Given the description of an element on the screen output the (x, y) to click on. 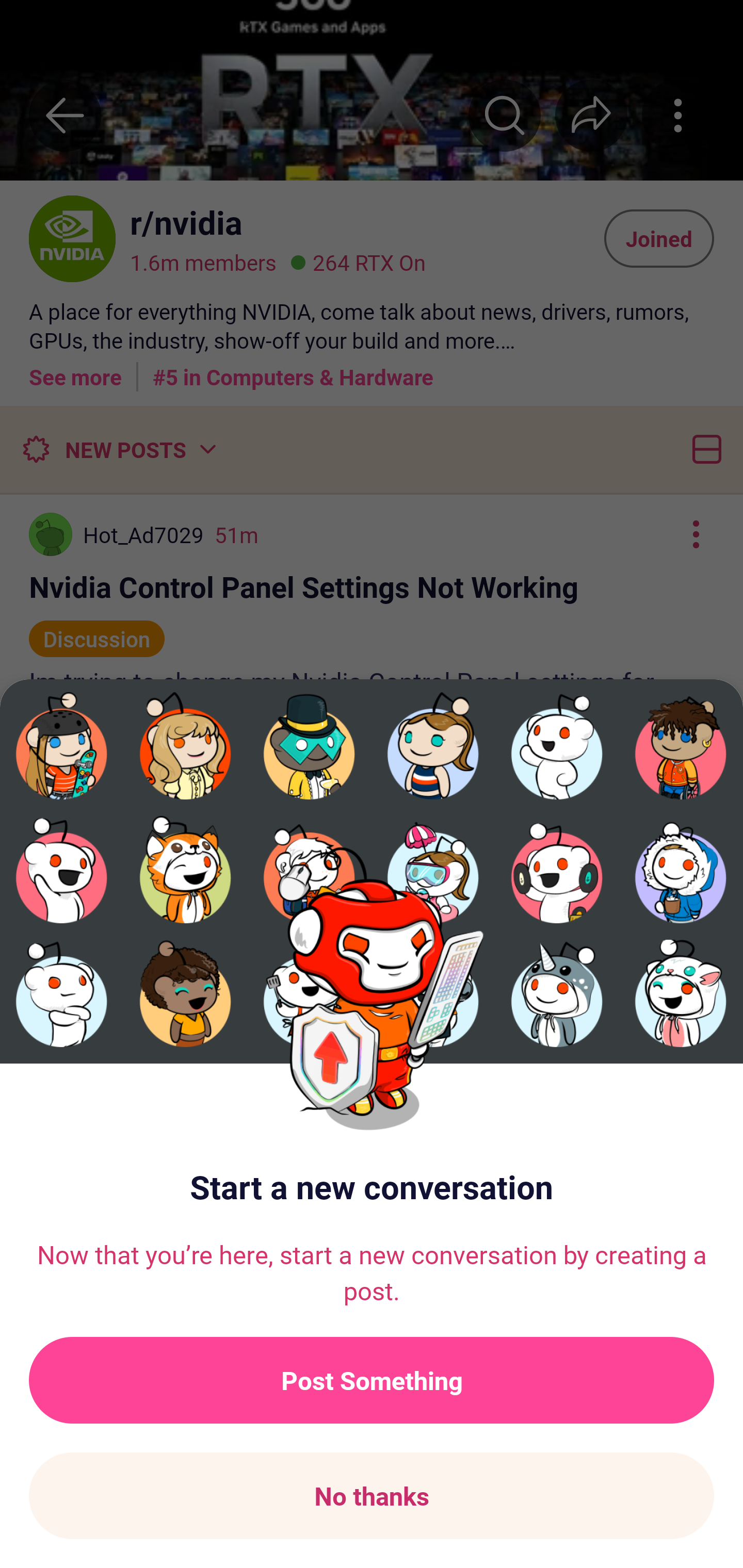
Post Something (371, 1380)
No thanks (371, 1495)
